Given the description of an element on the screen output the (x, y) to click on. 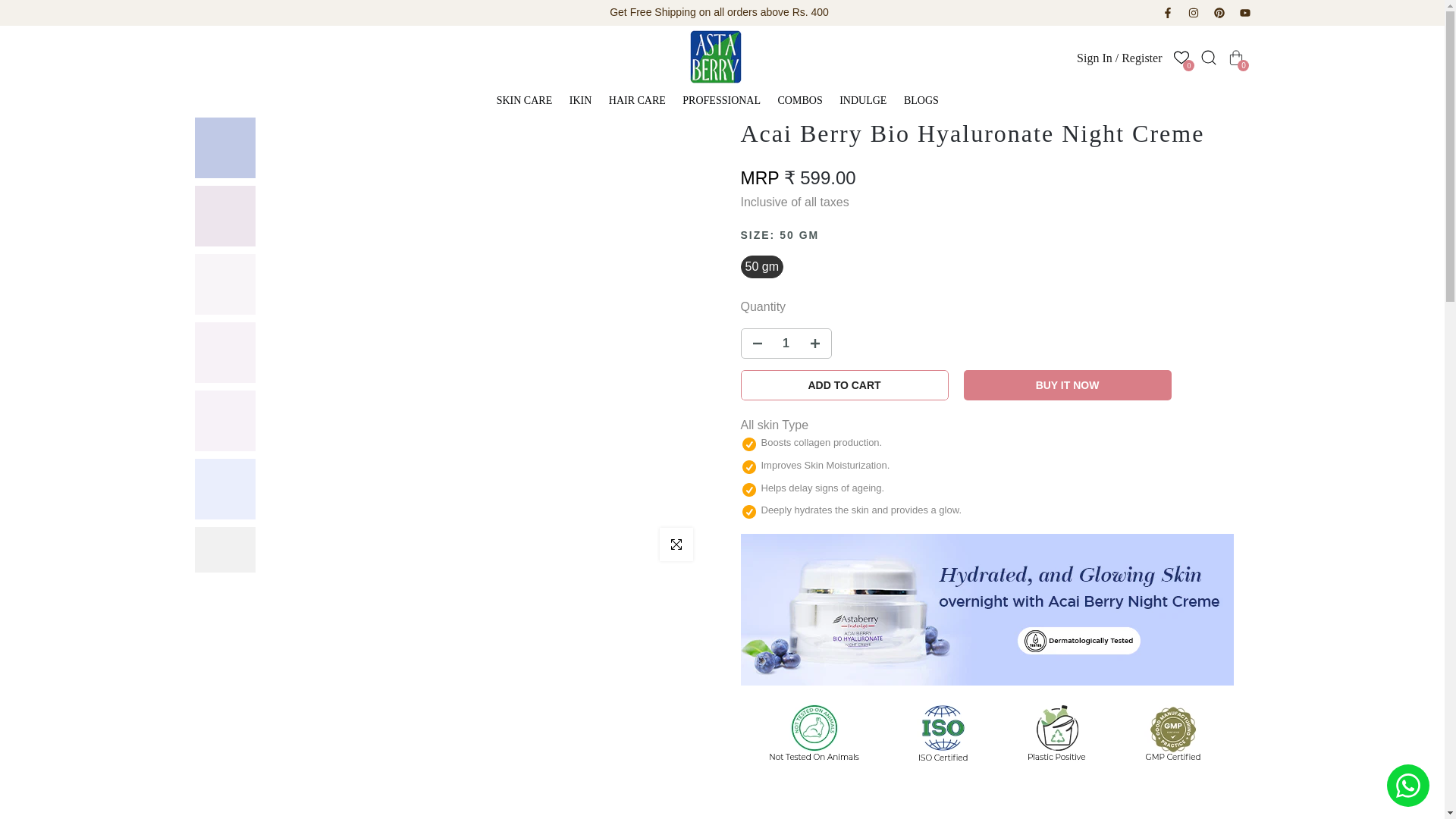
HAIR CARE (642, 100)
WhatsApp (1408, 785)
IKIN (585, 100)
SKIN CARE (529, 100)
Skip to content (10, 7)
1 (786, 343)
